Given the description of an element on the screen output the (x, y) to click on. 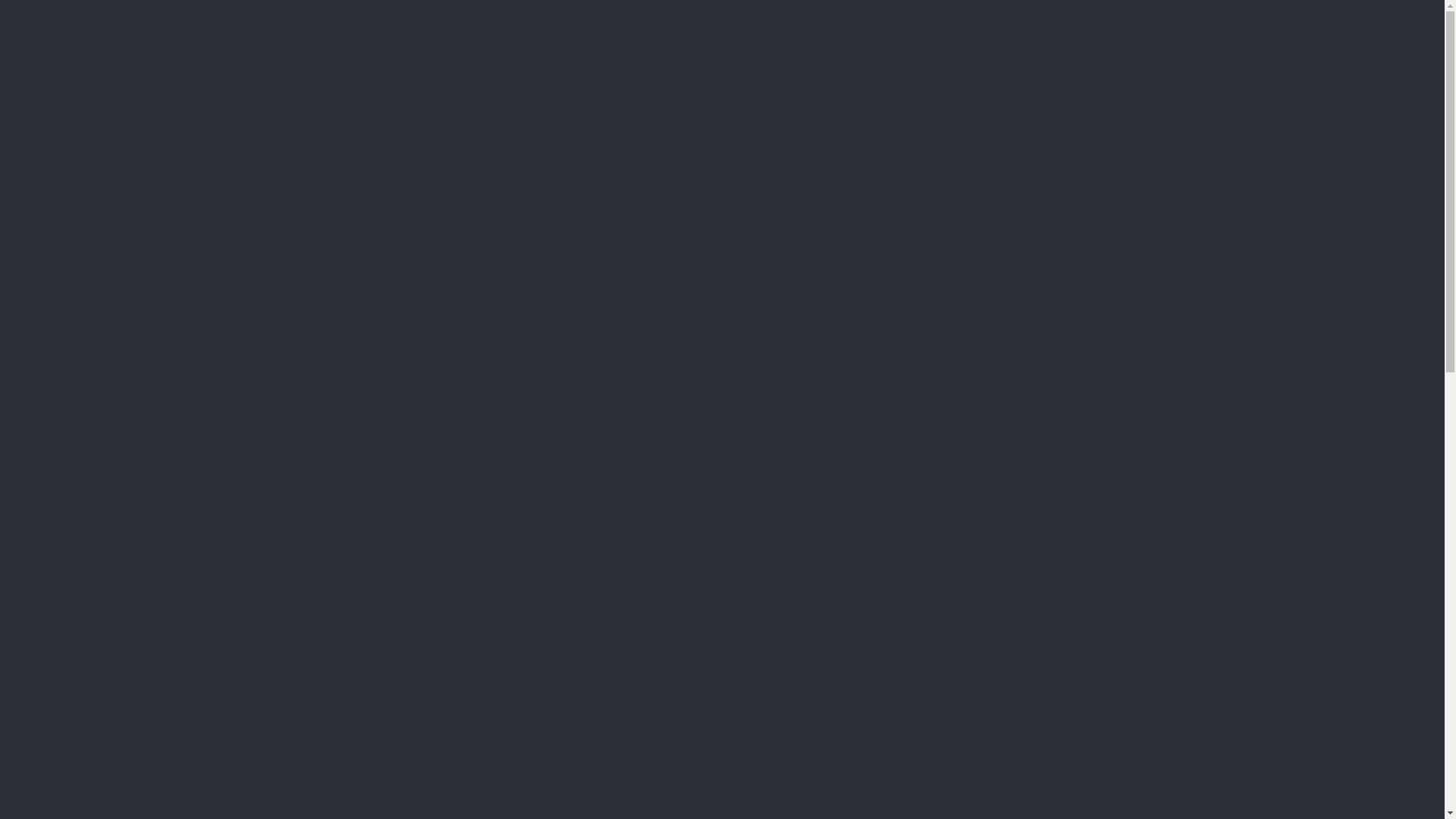
Klantprojecten Element type: text (956, 59)
Home Element type: text (720, 59)
Over ons Element type: text (781, 59)
Afspraak Element type: text (1145, 59)
+32 484 41 43 13 Element type: text (1046, 11)
Offerte Element type: text (1052, 59)
Contact Element type: text (1110, 11)
instagram Element type: text (284, 12)
info@2polished.be Element type: text (960, 11)
facebook Element type: text (261, 12)
Diensten Element type: text (859, 59)
